Given the description of an element on the screen output the (x, y) to click on. 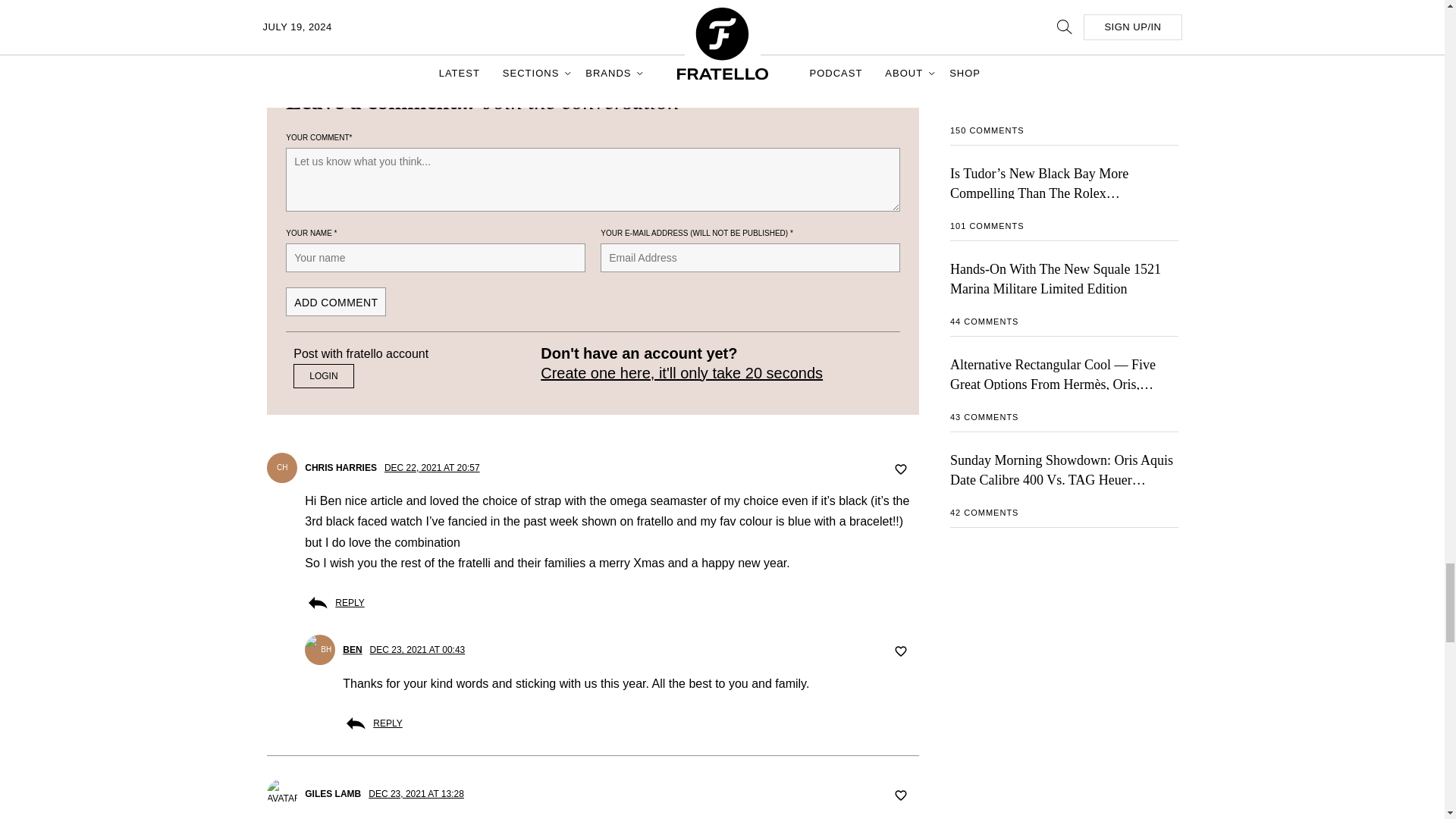
Add comment (335, 301)
